Given the description of an element on the screen output the (x, y) to click on. 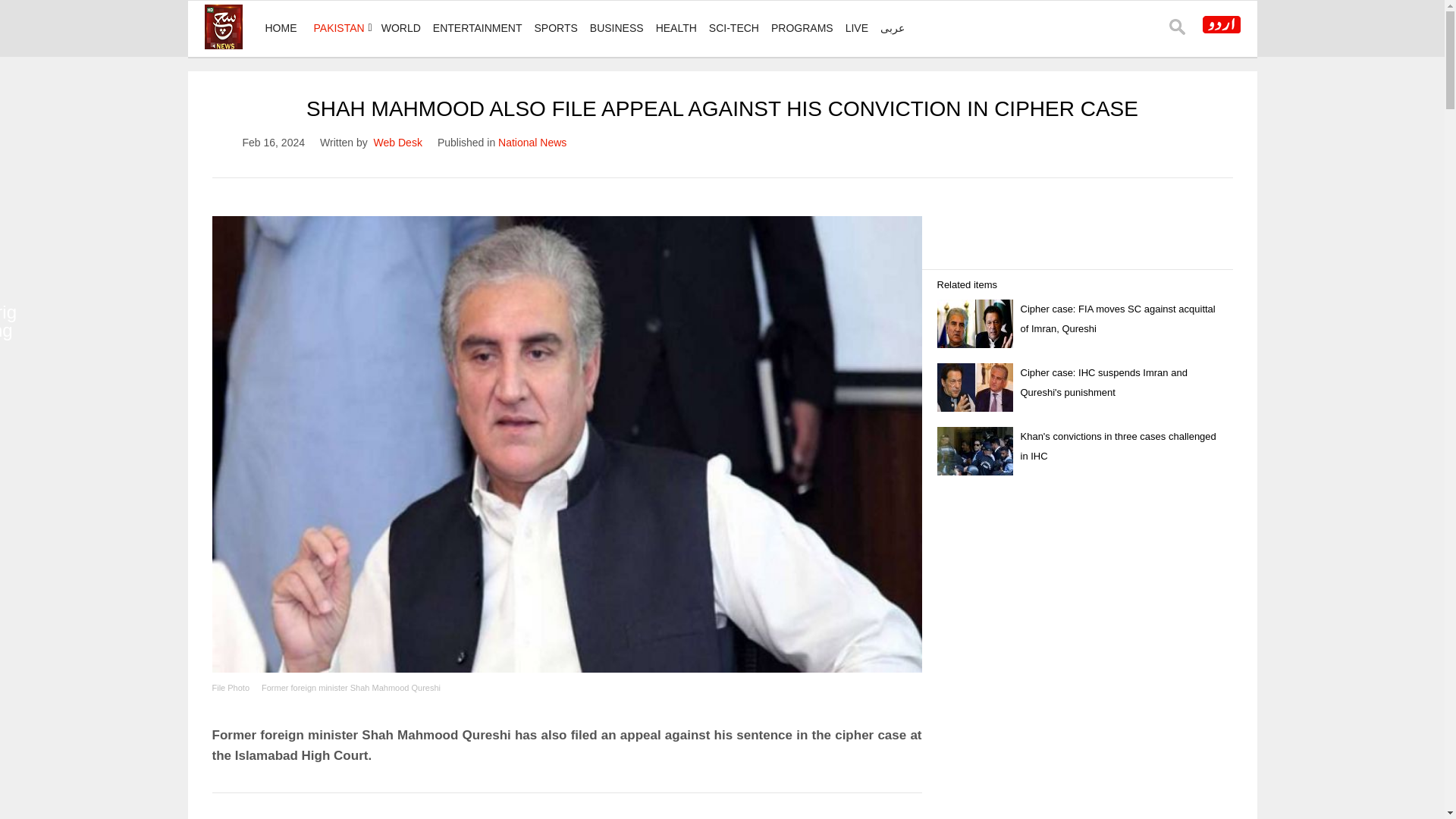
HEALTH (676, 27)
Advertisement (566, 809)
PAKISTAN (338, 27)
ENTERTAINMENT (477, 27)
Khan's convictions in three cases challenged in IHC (1117, 445)
Cipher case: IHC suspends Imran and Qureshi's punishment (1104, 382)
BUSINESS (616, 27)
SCI-TECH (734, 27)
